Given the description of an element on the screen output the (x, y) to click on. 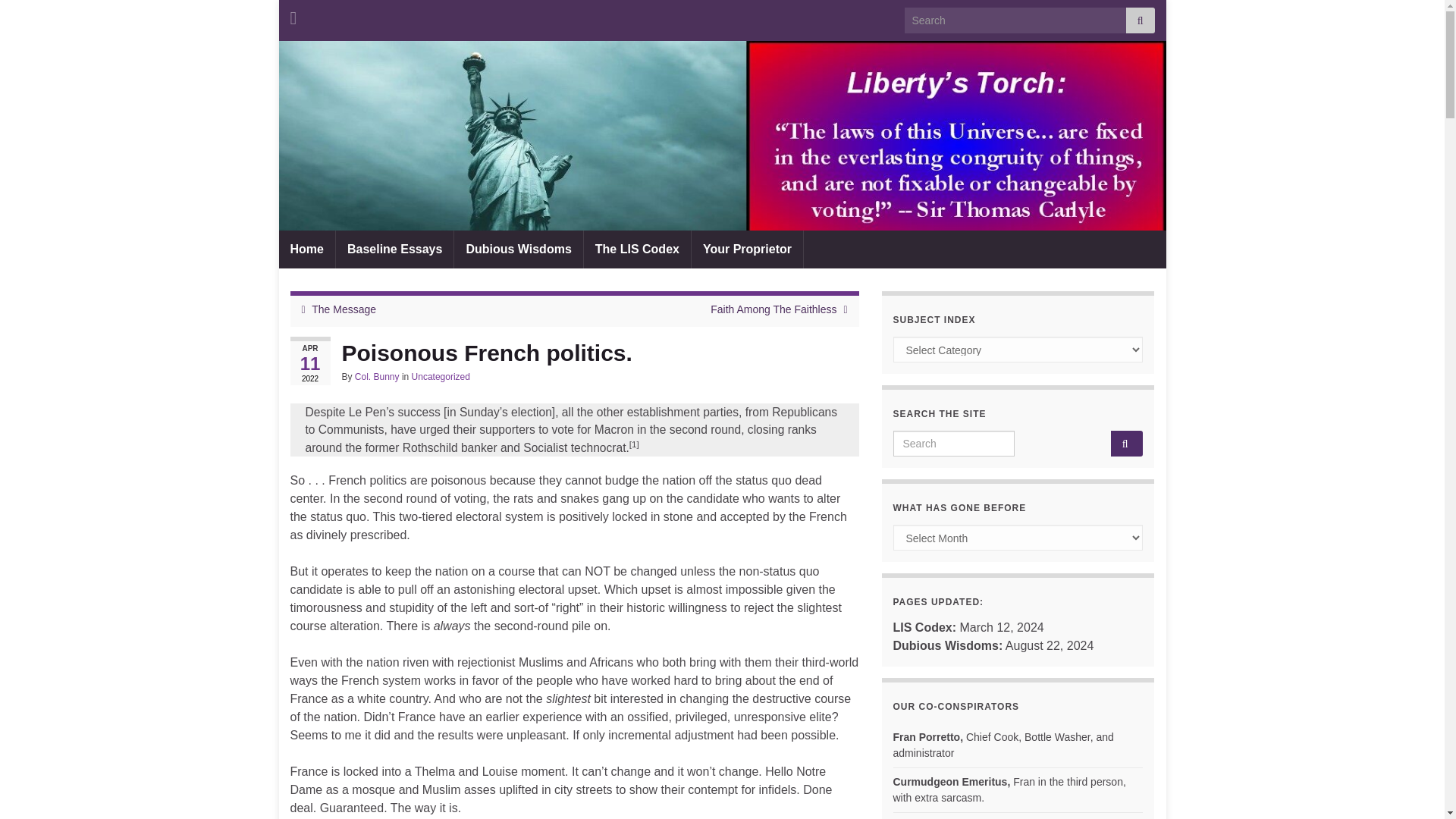
The Message (343, 309)
Faith Among The Faithless (772, 309)
Uncategorized (441, 376)
Col. Bunny (376, 376)
Baseline Essays (394, 249)
Your Proprietor (747, 249)
Home (306, 249)
Dubious Wisdoms (518, 249)
The LIS Codex (636, 249)
